Given the description of an element on the screen output the (x, y) to click on. 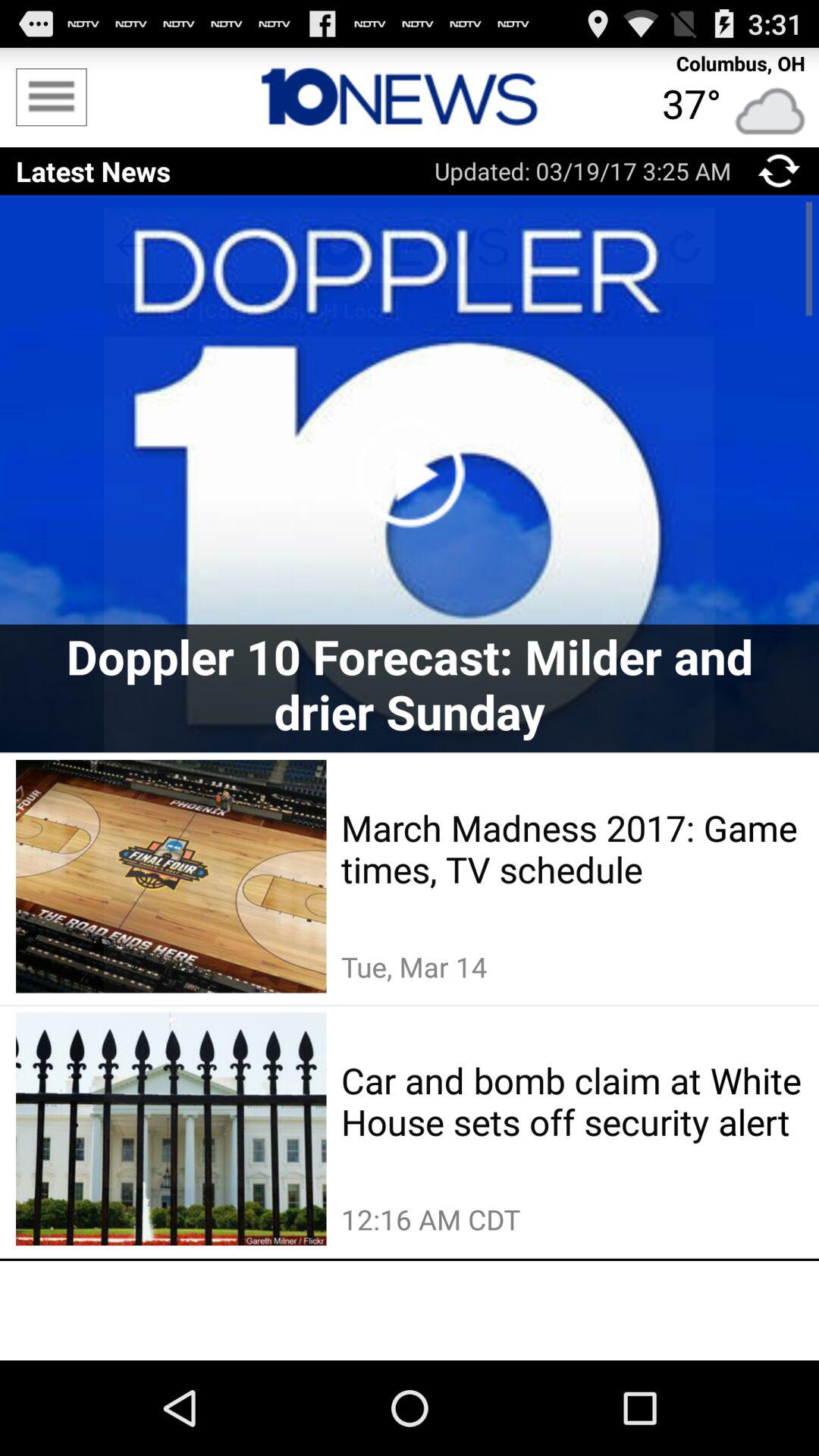
button to get to home screen (409, 97)
